Given the description of an element on the screen output the (x, y) to click on. 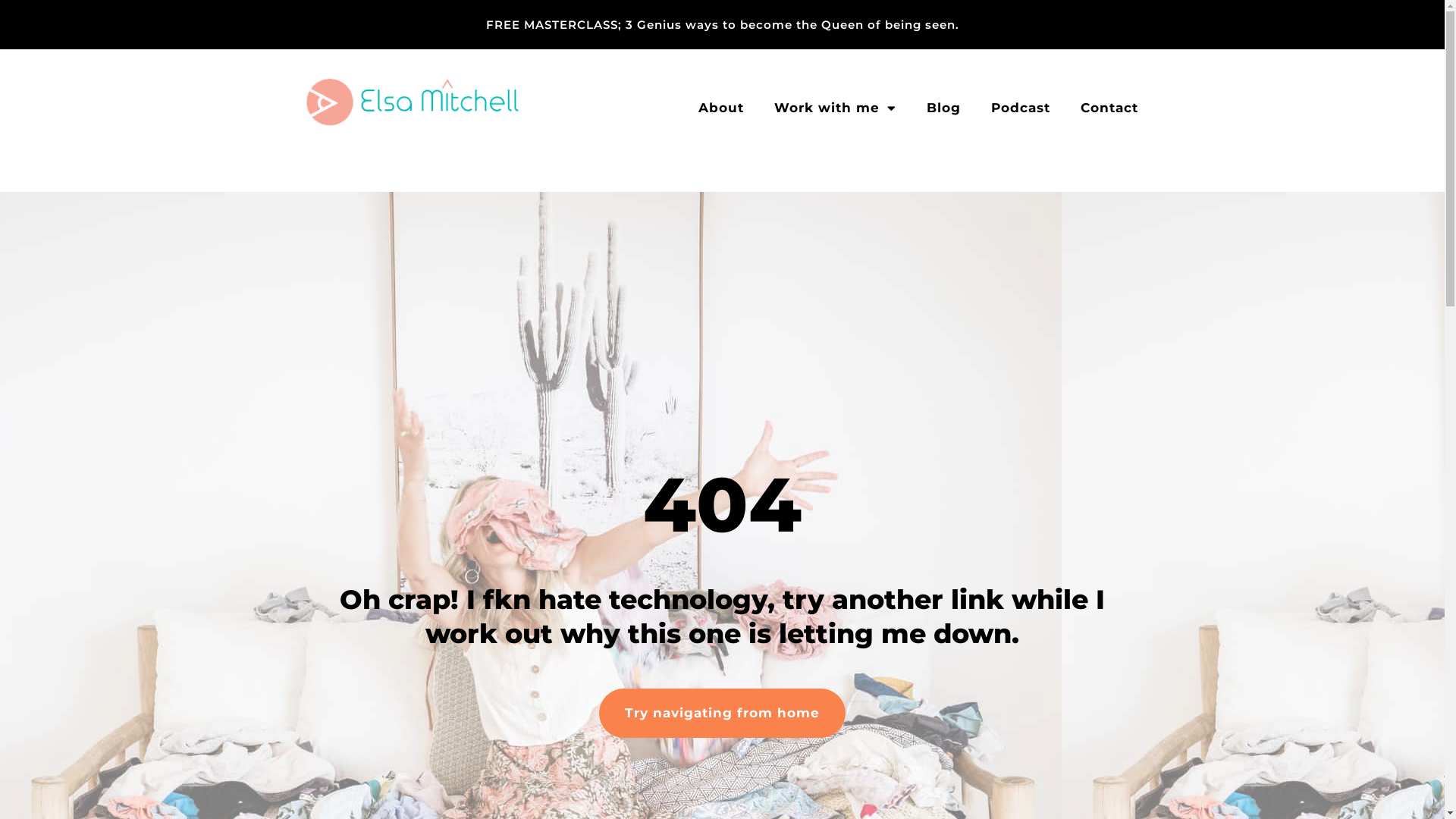
3 Genius ways to become the Queen of being seen. Element type: text (791, 24)
About Element type: text (720, 107)
Contact Element type: text (1108, 107)
Blog Element type: text (943, 107)
Work with me Element type: text (834, 107)
FREE MASTERCLASS; Element type: text (554, 24)
Try navigating from home Element type: text (722, 712)
Podcast Element type: text (1019, 107)
